Given the description of an element on the screen output the (x, y) to click on. 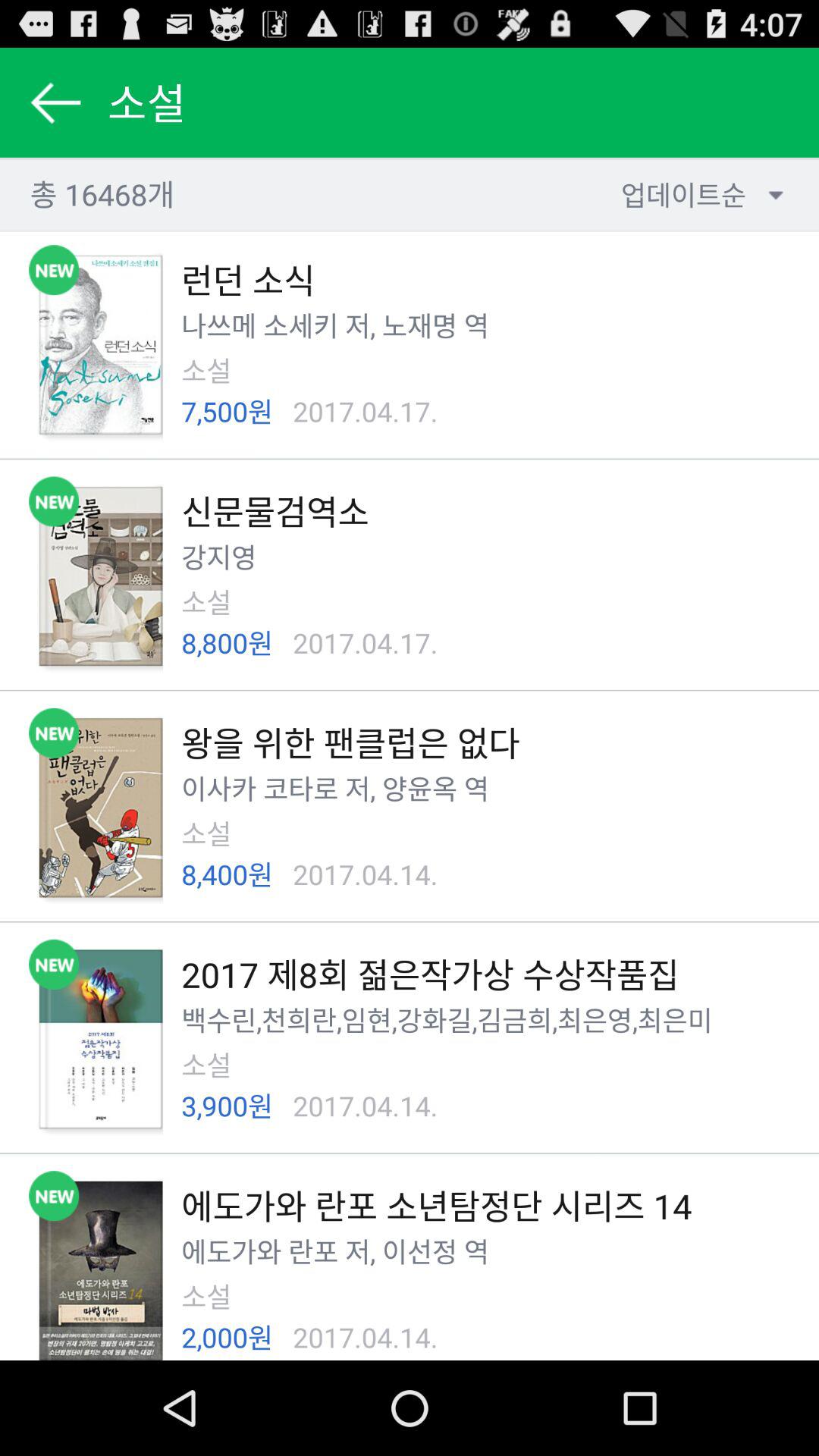
tap the item above the 2017.04.17. (354, 325)
